Given the description of an element on the screen output the (x, y) to click on. 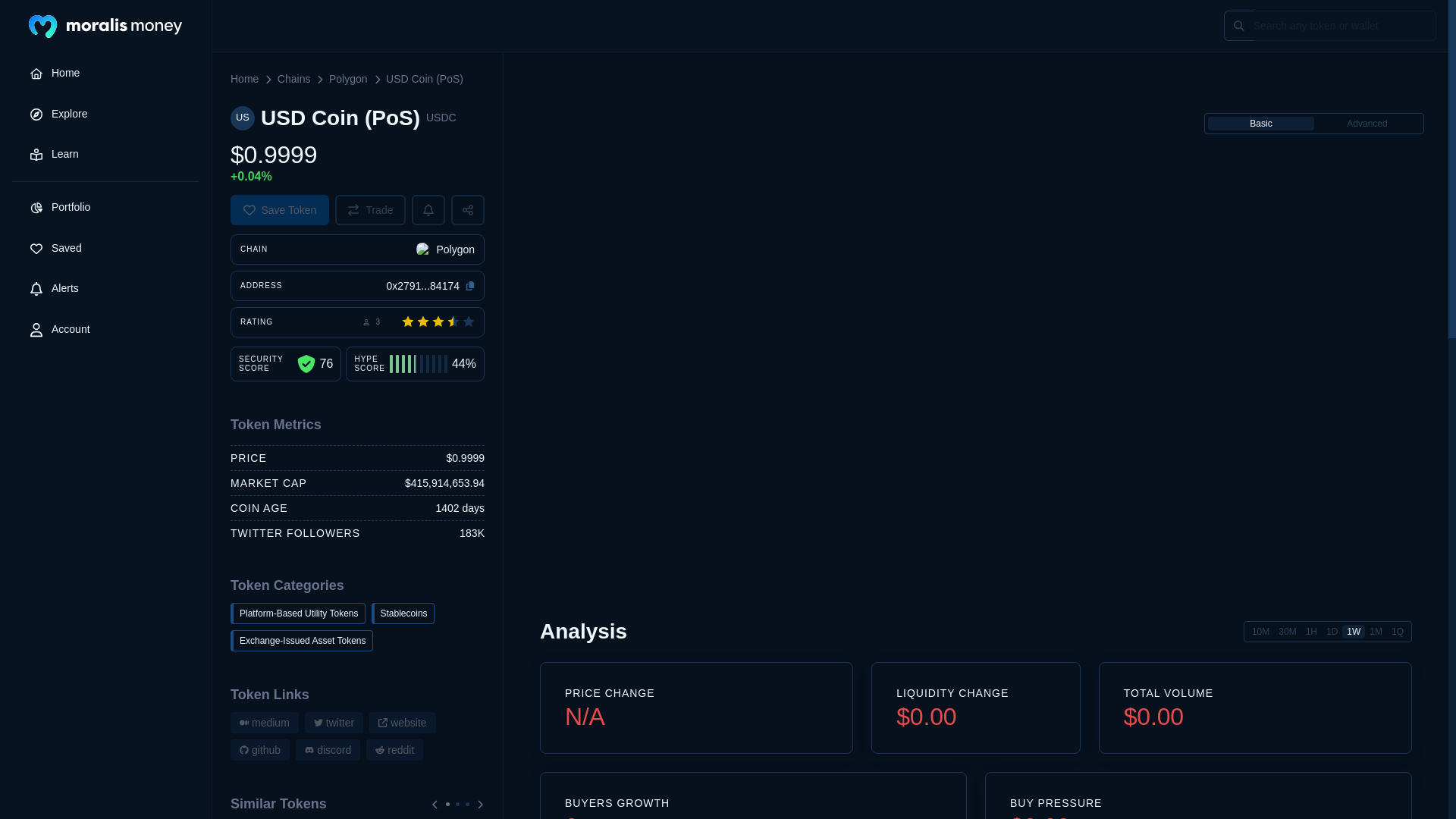
1M (1376, 631)
Portfolio (105, 207)
Learn (105, 154)
Chains (294, 79)
1D (1332, 631)
Trade (370, 209)
discord (327, 749)
1Q (1397, 631)
reddit (394, 749)
Advanced (1367, 123)
1H (1311, 631)
medium (264, 722)
Home (244, 79)
Polygon (348, 79)
Saved (105, 248)
